Given the description of an element on the screen output the (x, y) to click on. 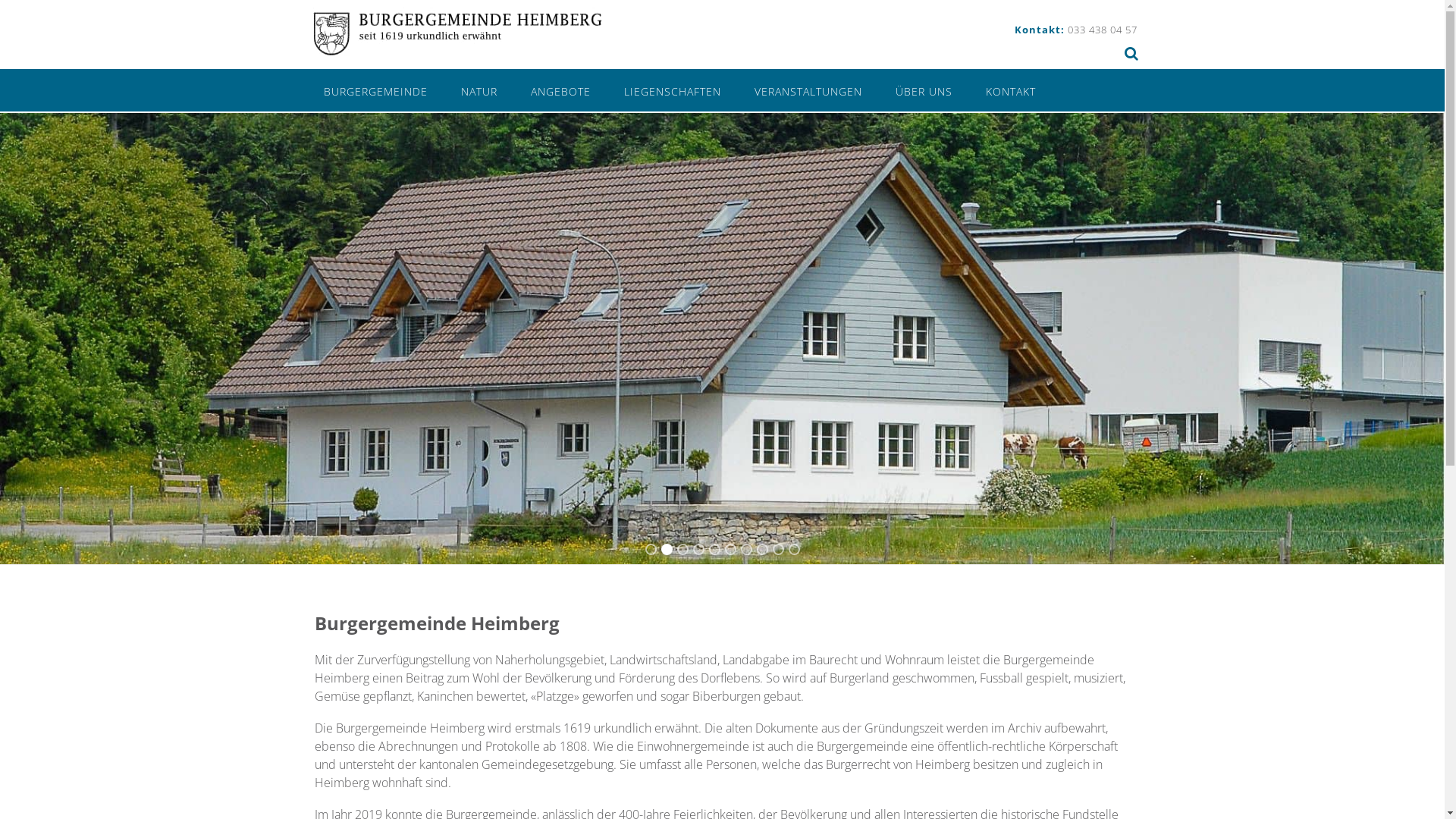
ANGEBOTE Element type: text (560, 90)
NATUR Element type: text (479, 90)
10 Element type: text (793, 549)
7 Element type: text (746, 549)
VERANSTALTUNGEN Element type: text (807, 90)
4 Element type: text (698, 549)
8 Element type: text (761, 549)
KONTAKT Element type: text (1010, 90)
9 Element type: text (778, 549)
LIEGENSCHAFTEN Element type: text (671, 90)
6 Element type: text (729, 549)
1 Element type: text (650, 549)
3 Element type: text (682, 549)
2 Element type: text (666, 549)
Search our website Element type: hover (1130, 52)
BURGERGEMEINDE Element type: text (374, 90)
5 Element type: text (714, 549)
